Given the description of an element on the screen output the (x, y) to click on. 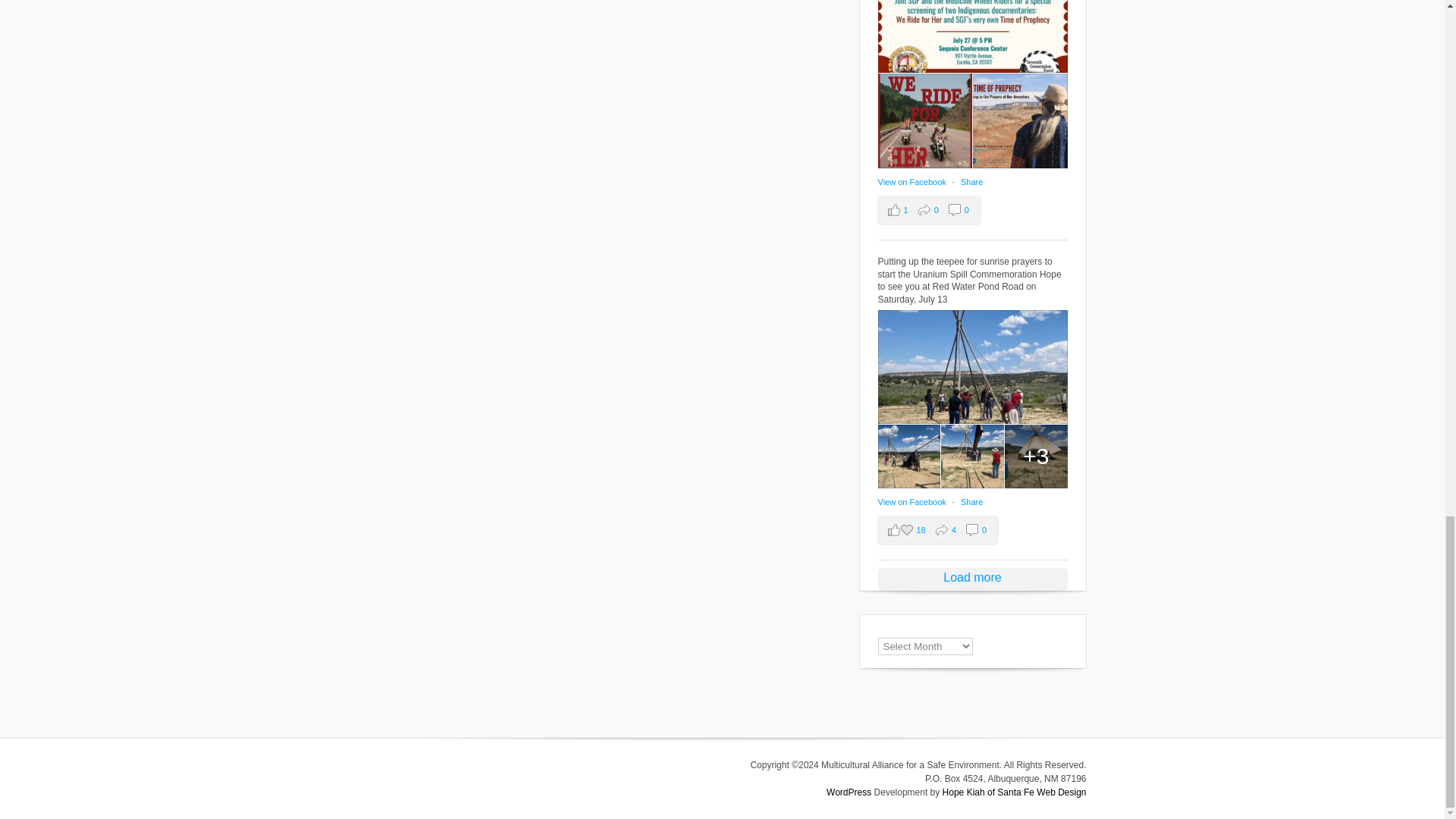
View on Facebook (913, 501)
Santa Fe Wordpress Designer (1014, 792)
Share (971, 181)
View on Facebook (913, 181)
Share (971, 501)
